Given the description of an element on the screen output the (x, y) to click on. 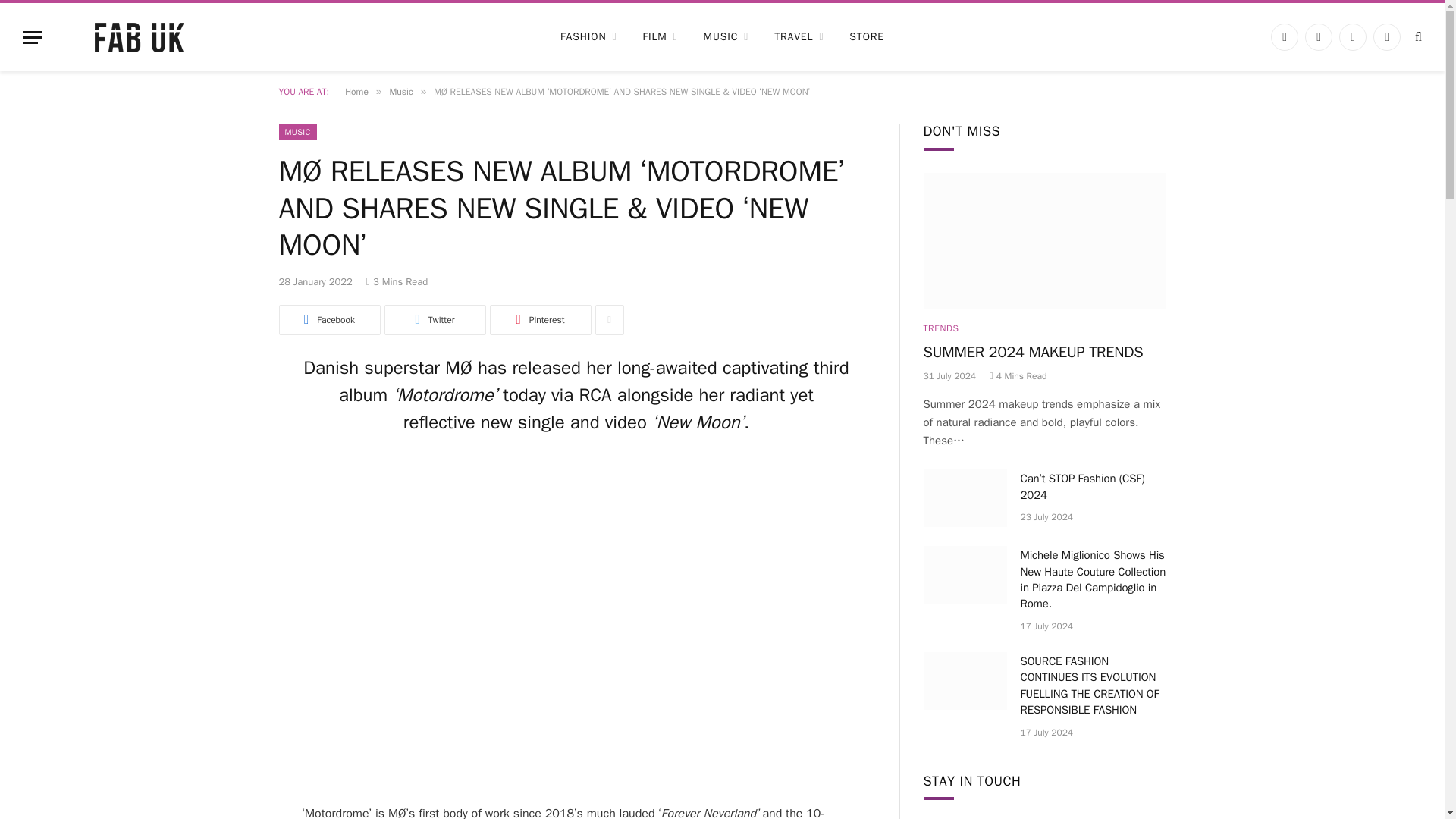
FASHION (587, 37)
Fabuk Magazine (138, 36)
MUSIC (725, 37)
